Given the description of an element on the screen output the (x, y) to click on. 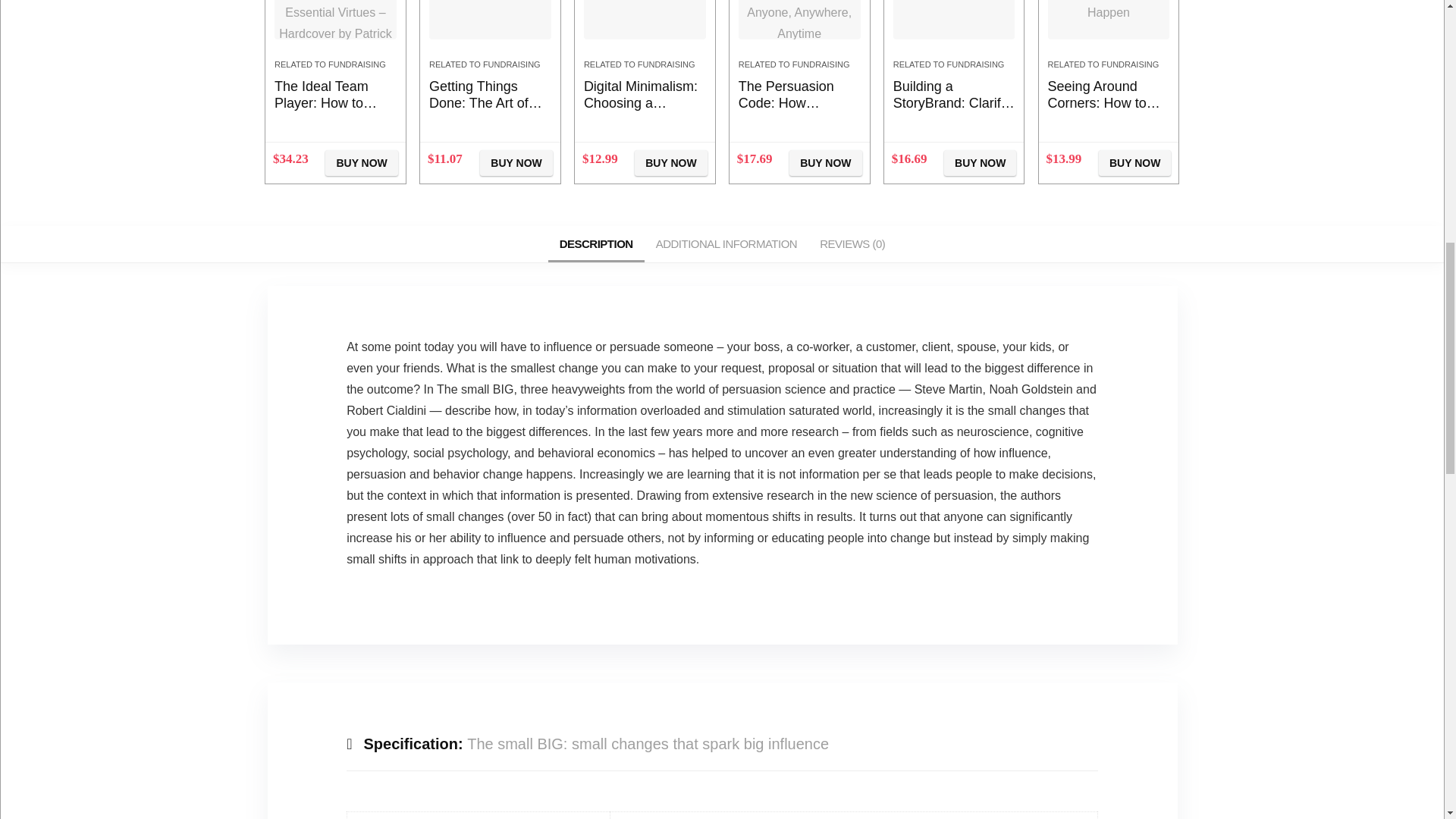
BUY NOW (670, 162)
BUY NOW (515, 162)
BUY NOW (360, 162)
Digital Minimalism: Choosing a Focused Life in a Noisy World (640, 111)
RELATED TO FUNDRAISING (484, 63)
Getting Things Done: The Art of Stress-Free Productivity (485, 111)
RELATED TO FUNDRAISING (639, 63)
RELATED TO FUNDRAISING (330, 63)
